Given the description of an element on the screen output the (x, y) to click on. 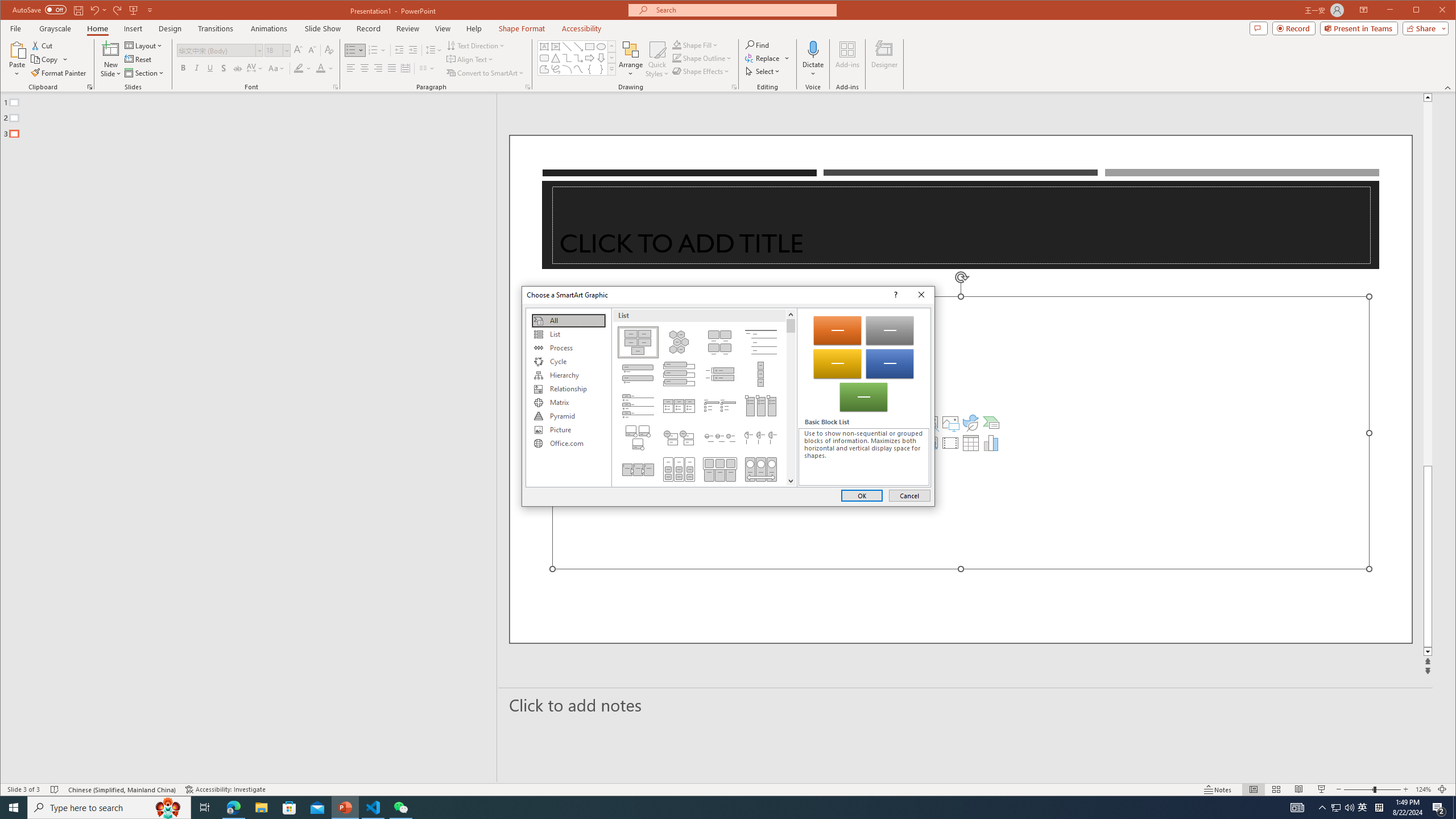
List (568, 334)
Continuous Picture List (761, 469)
Shape Fill Orange, Accent 2 (676, 44)
Vertical Bullet List (637, 373)
Picture Caption List (719, 342)
